Given the description of an element on the screen output the (x, y) to click on. 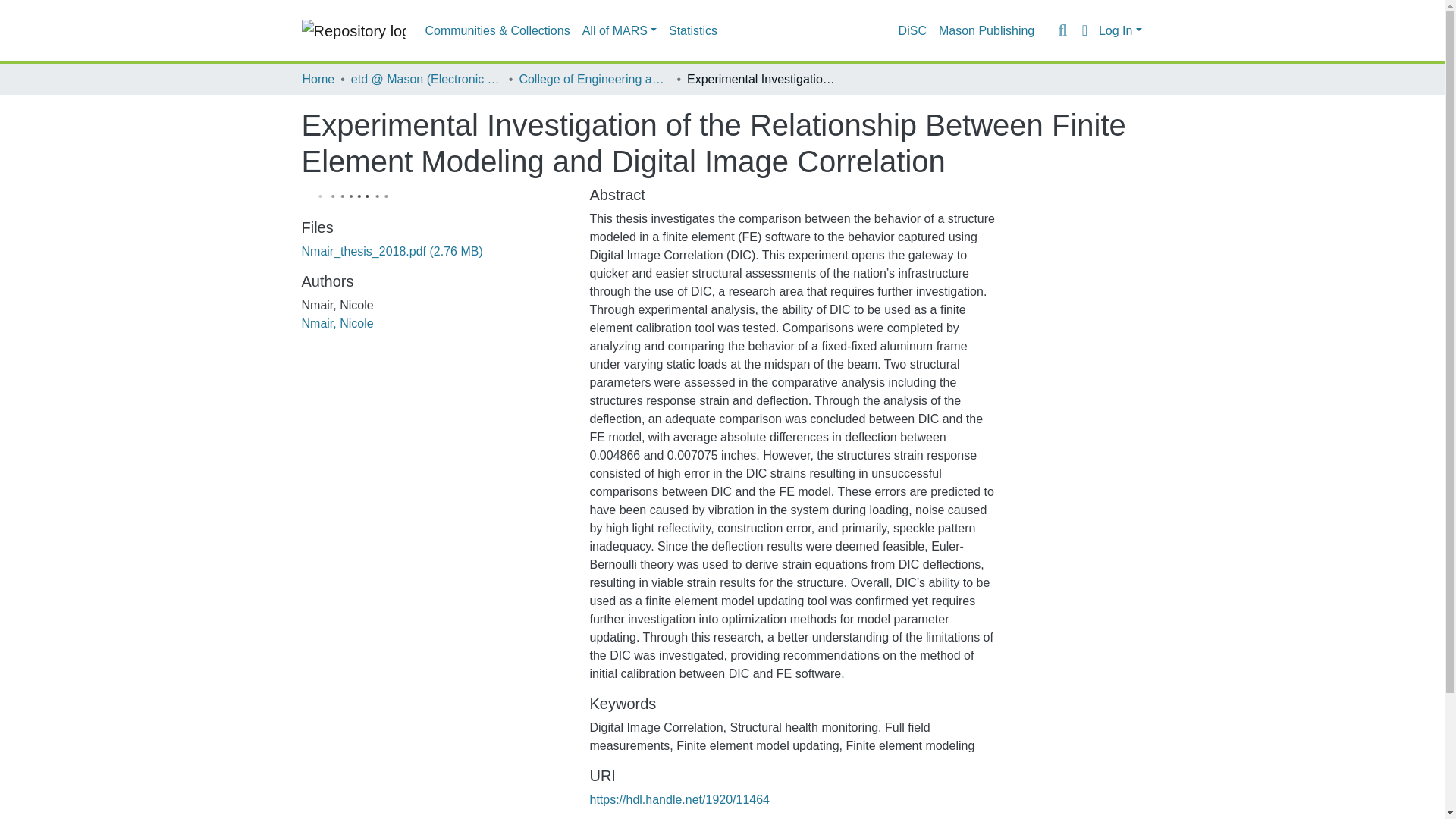
DiSC (912, 30)
Log In (1119, 30)
Home (317, 79)
Statistics (692, 30)
Statistics (692, 30)
Mason Publishing (987, 30)
College of Engineering and Computing (593, 79)
Search (1061, 30)
Language switch (1084, 30)
All of MARS (619, 30)
Nmair, Nicole (337, 323)
